Given the description of an element on the screen output the (x, y) to click on. 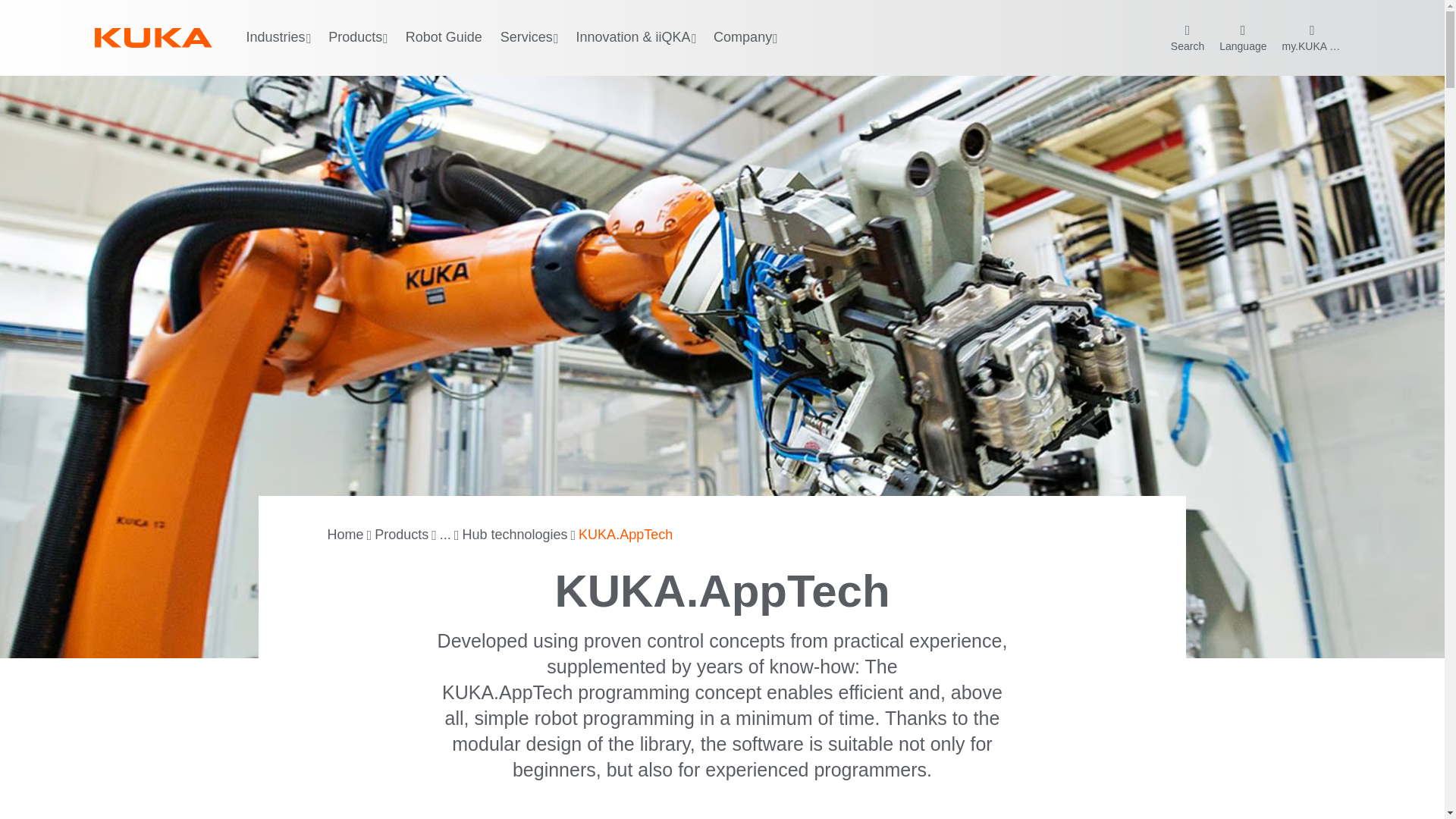
KUKA.AppTech (625, 535)
Hub technologies (514, 535)
Home (345, 535)
Products (401, 535)
